Given the description of an element on the screen output the (x, y) to click on. 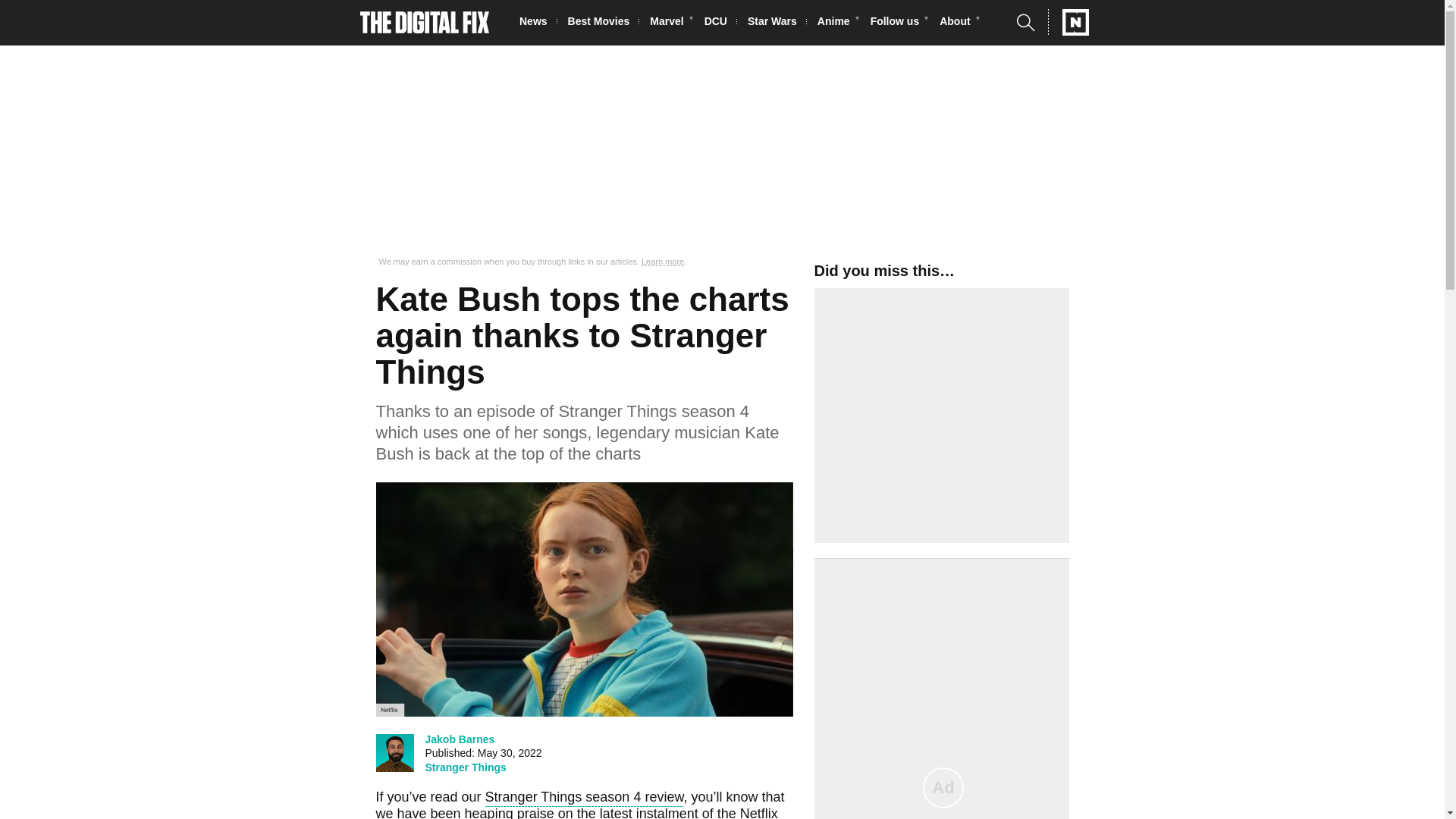
Anime (837, 22)
Jakob Barnes (460, 739)
Follow us (899, 22)
Learn more (663, 261)
Stranger Things (465, 767)
Star Wars News (777, 22)
Marvel (671, 22)
Anime News (837, 22)
The Digital Fix (424, 22)
Star Wars (777, 22)
